Given the description of an element on the screen output the (x, y) to click on. 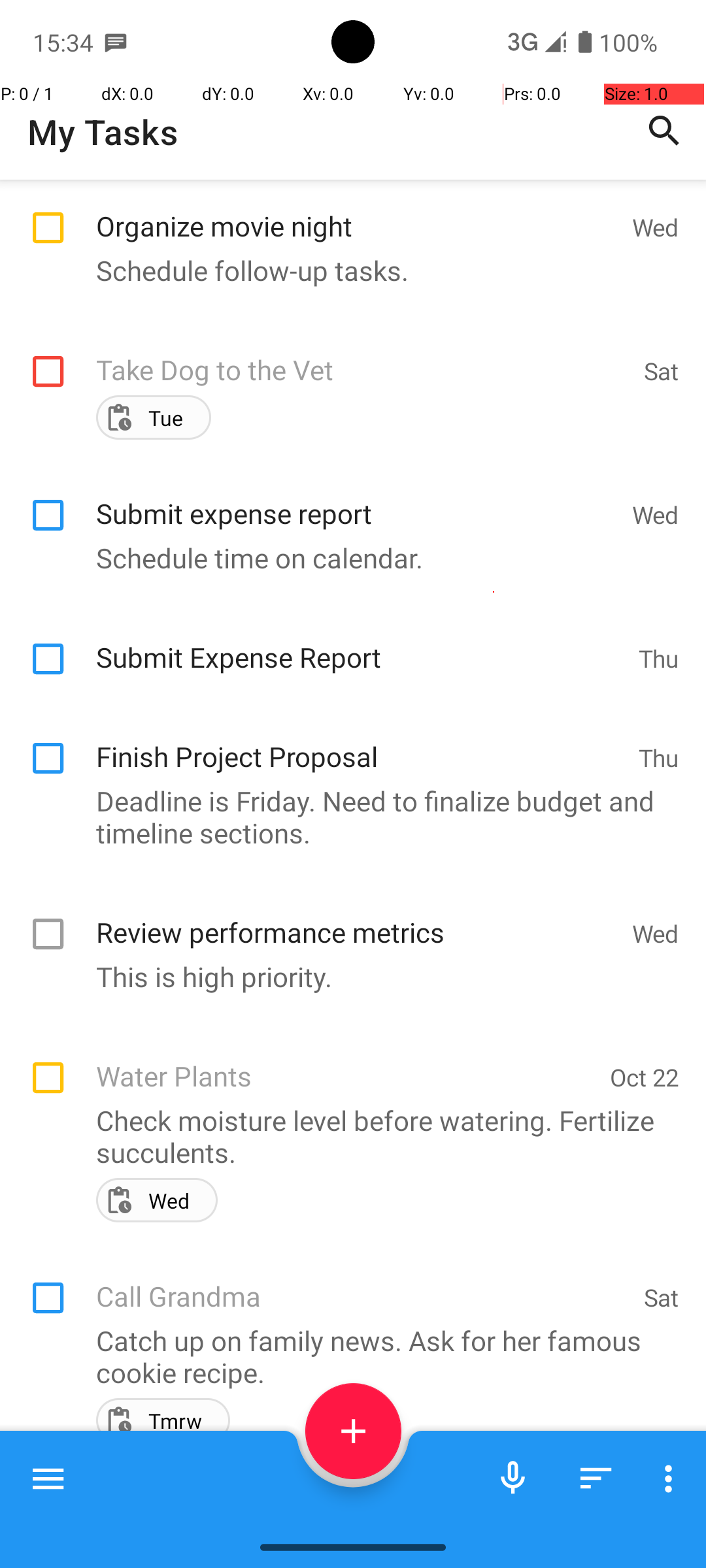
Organize movie night Element type: android.widget.TextView (357, 211)
Schedule follow-up tasks. Element type: android.widget.TextView (346, 269)
Sat Element type: android.widget.TextView (661, 370)
Submit expense report Element type: android.widget.TextView (357, 499)
Schedule time on calendar. Element type: android.widget.TextView (346, 557)
Deadline is Friday. Need to finalize budget and timeline sections. Element type: android.widget.TextView (346, 816)
Review performance metrics Element type: android.widget.TextView (357, 917)
This is high priority. Element type: android.widget.TextView (346, 976)
Check moisture level before watering. Fertilize succulents. Element type: android.widget.TextView (346, 1135)
Oct 22 Element type: android.widget.TextView (644, 1076)
Catch up on family news. Ask for her famous cookie recipe. Element type: android.widget.TextView (346, 1355)
